Given the description of an element on the screen output the (x, y) to click on. 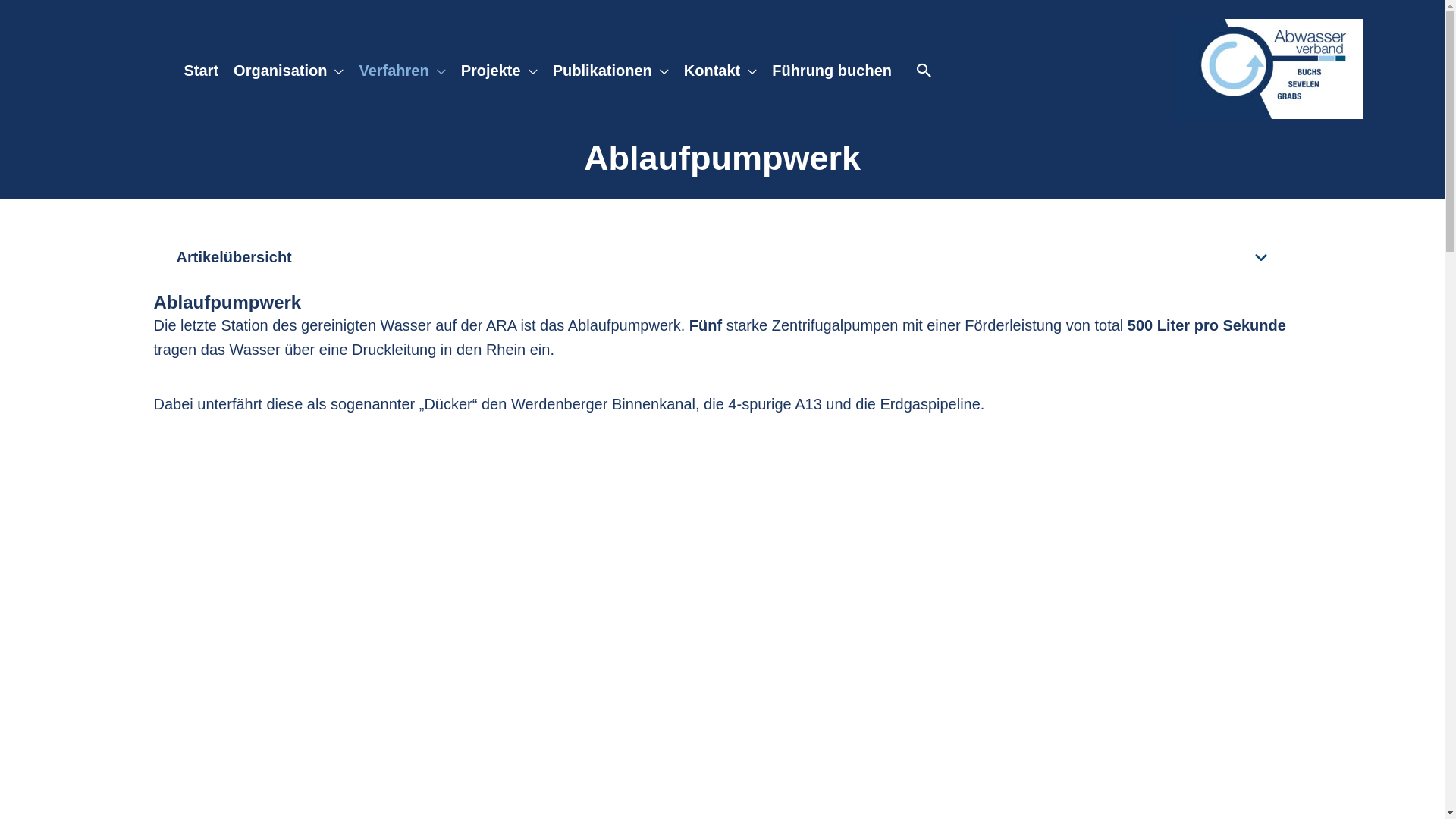
Publikationen Element type: text (610, 68)
Projekte Element type: text (499, 68)
Kontakt Element type: text (720, 68)
Organisation Element type: text (288, 68)
Verfahren Element type: text (401, 68)
Start Element type: text (200, 68)
